Given the description of an element on the screen output the (x, y) to click on. 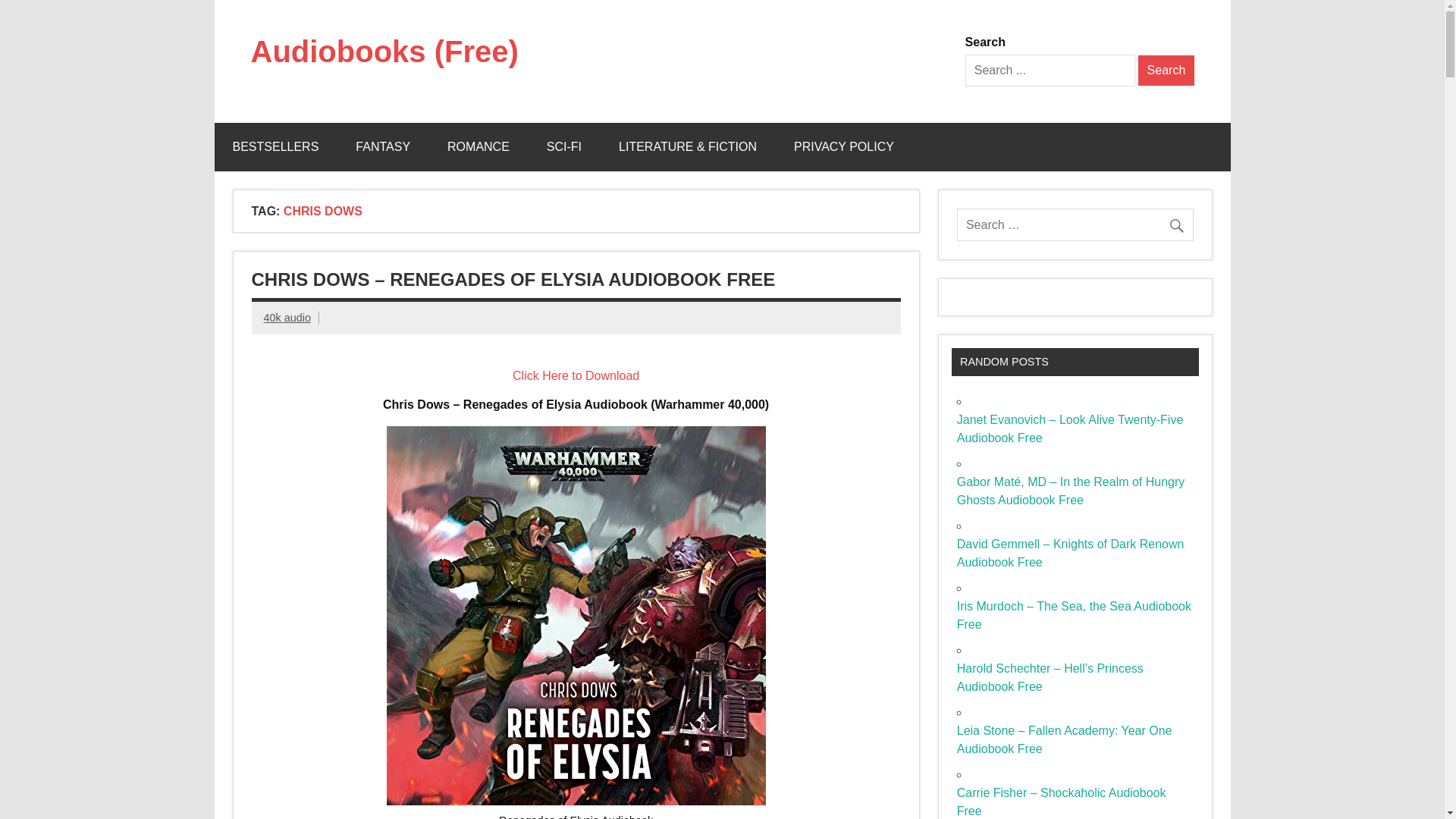
Search (1165, 70)
Search (1165, 70)
PRIVACY POLICY (844, 146)
ROMANCE (478, 146)
BESTSELLERS (275, 146)
Click Here to Download (575, 375)
View all posts by 40k audio (287, 317)
40k audio (287, 317)
Search (1165, 70)
Search ... (1050, 70)
